Given the description of an element on the screen output the (x, y) to click on. 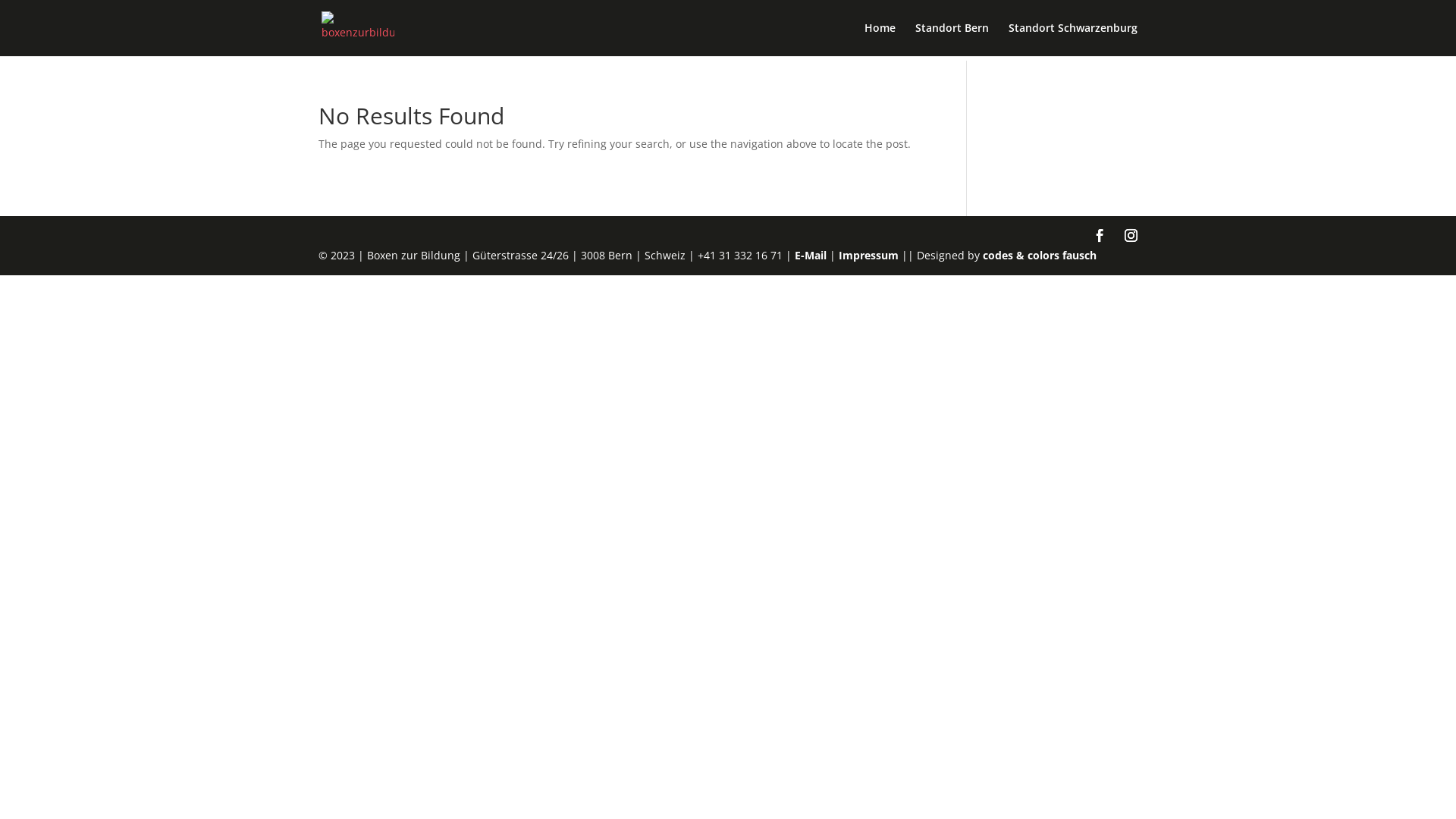
Standort Schwarzenburg Element type: text (1072, 39)
Home Element type: text (879, 39)
Impressum Element type: text (868, 254)
Standort Bern Element type: text (951, 39)
codes & colors fausch Element type: text (1039, 254)
E-Mail Element type: text (810, 254)
